Given the description of an element on the screen output the (x, y) to click on. 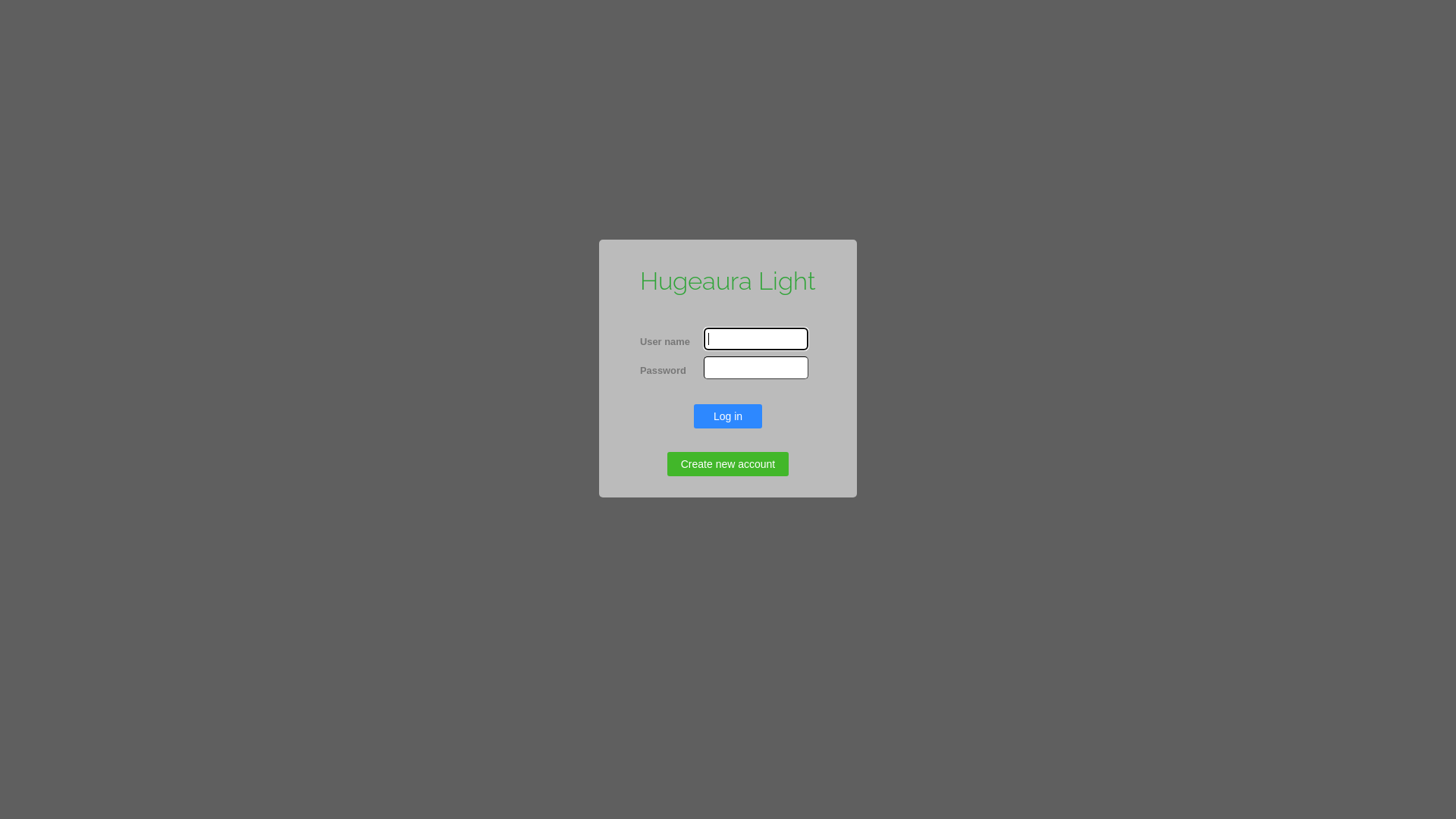
Create new account Element type: text (727, 463)
Log in Element type: text (727, 416)
